Given the description of an element on the screen output the (x, y) to click on. 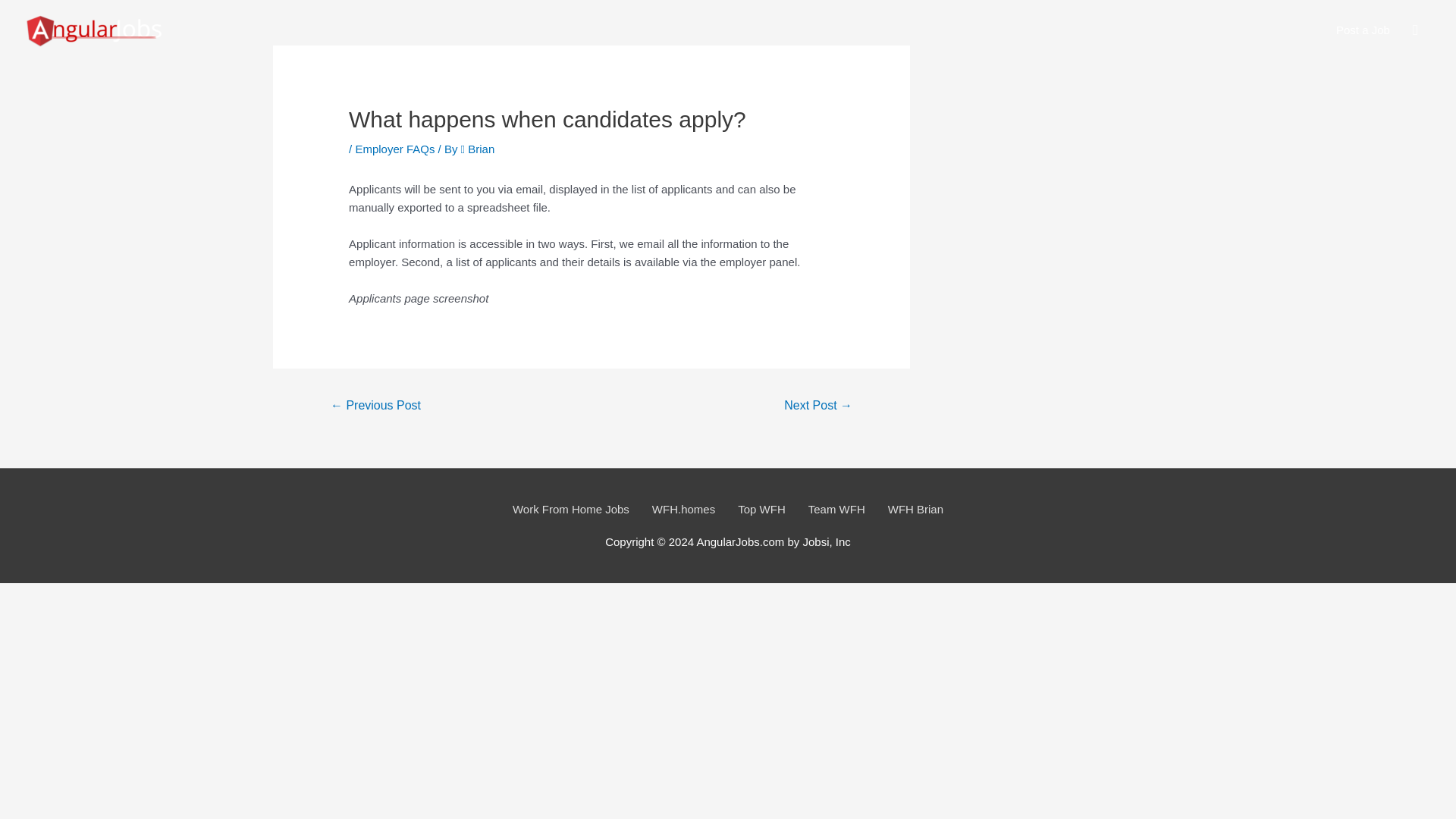
WFH Brian (915, 509)
Work From Home Jobs (570, 509)
Employer FAQs (394, 148)
Top WFH (762, 509)
WFH.homes (683, 509)
Team WFH (836, 509)
Post a Job (1362, 30)
